Given the description of an element on the screen output the (x, y) to click on. 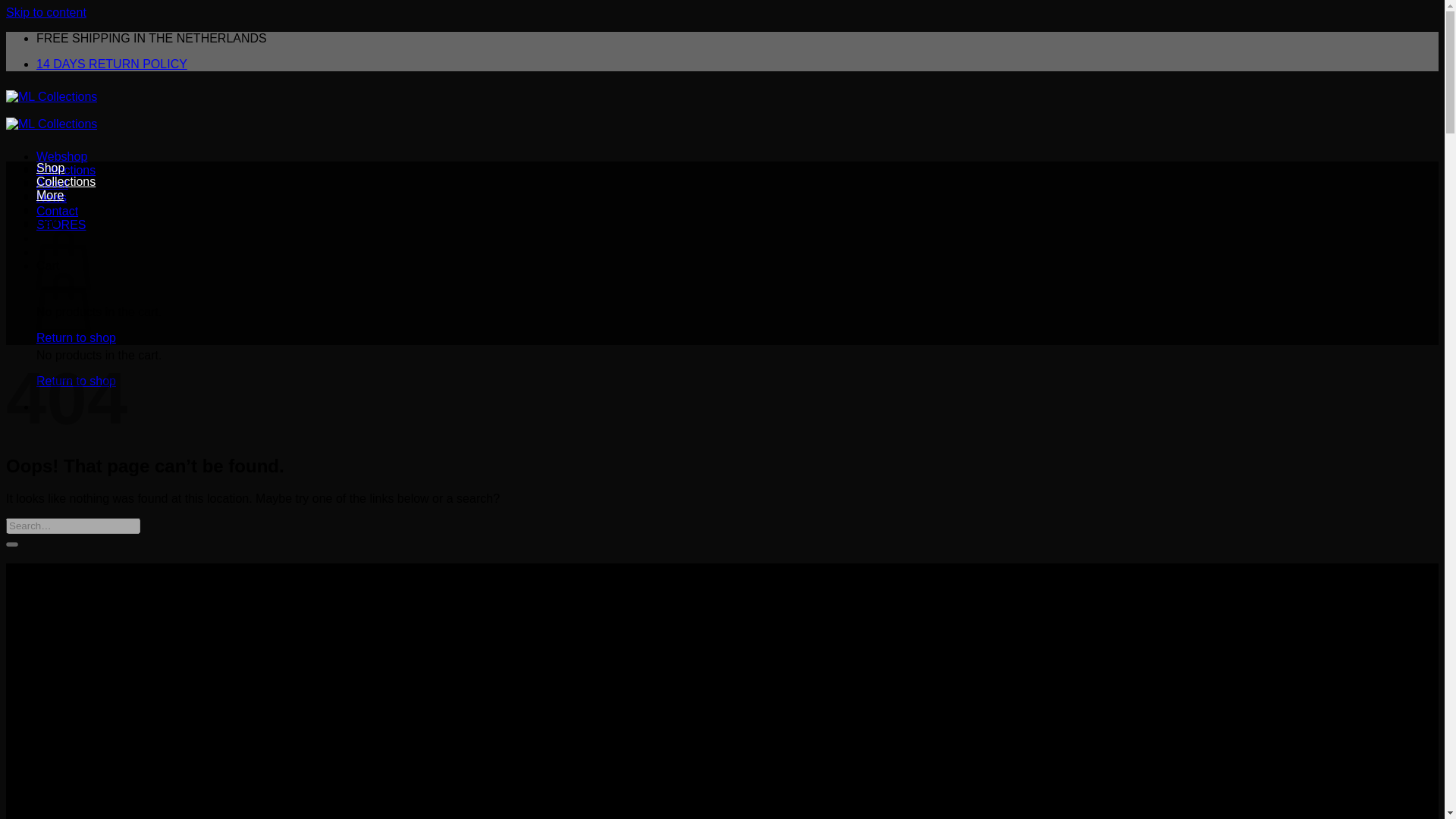
Shop (50, 167)
Collections (66, 181)
14 DAYS RETURN POLICY (111, 63)
Webshop (61, 155)
About (52, 183)
News (51, 196)
FREE SHIPPING IN THE NETHERLANDS (151, 38)
Skip to content (45, 11)
STORES (60, 224)
